Given the description of an element on the screen output the (x, y) to click on. 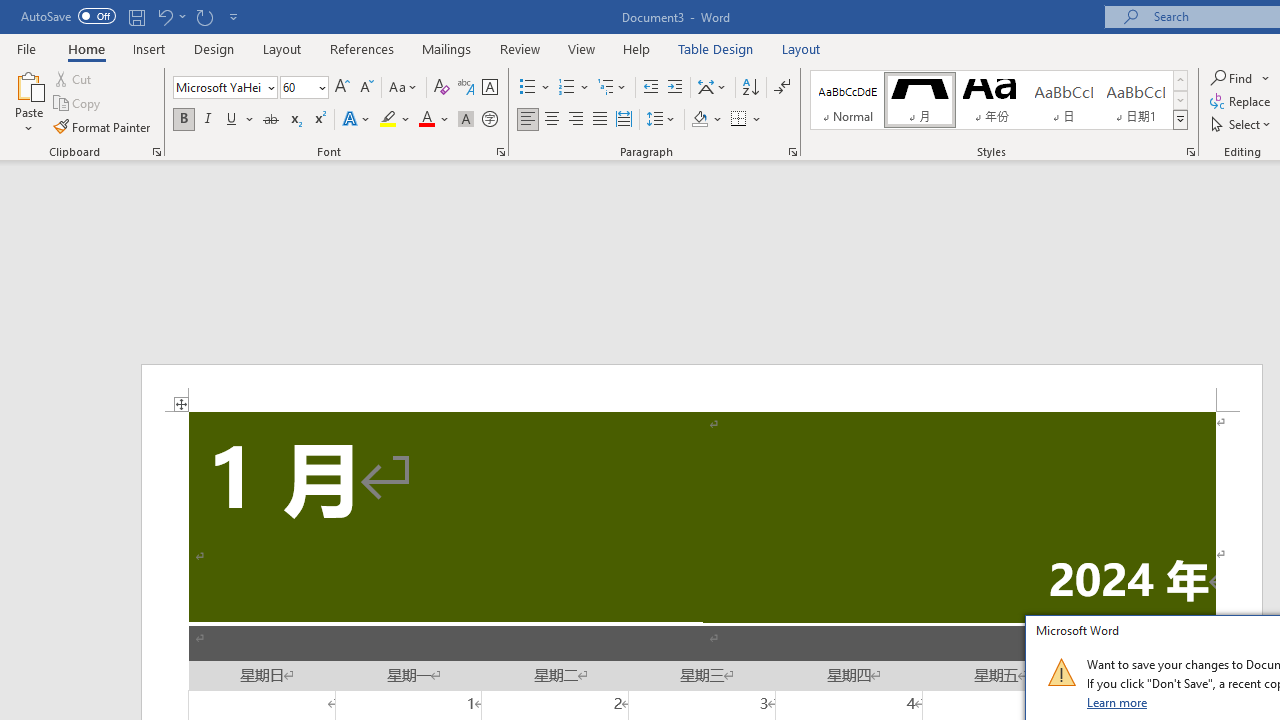
Undo Apply Quick Style (164, 15)
